Given the description of an element on the screen output the (x, y) to click on. 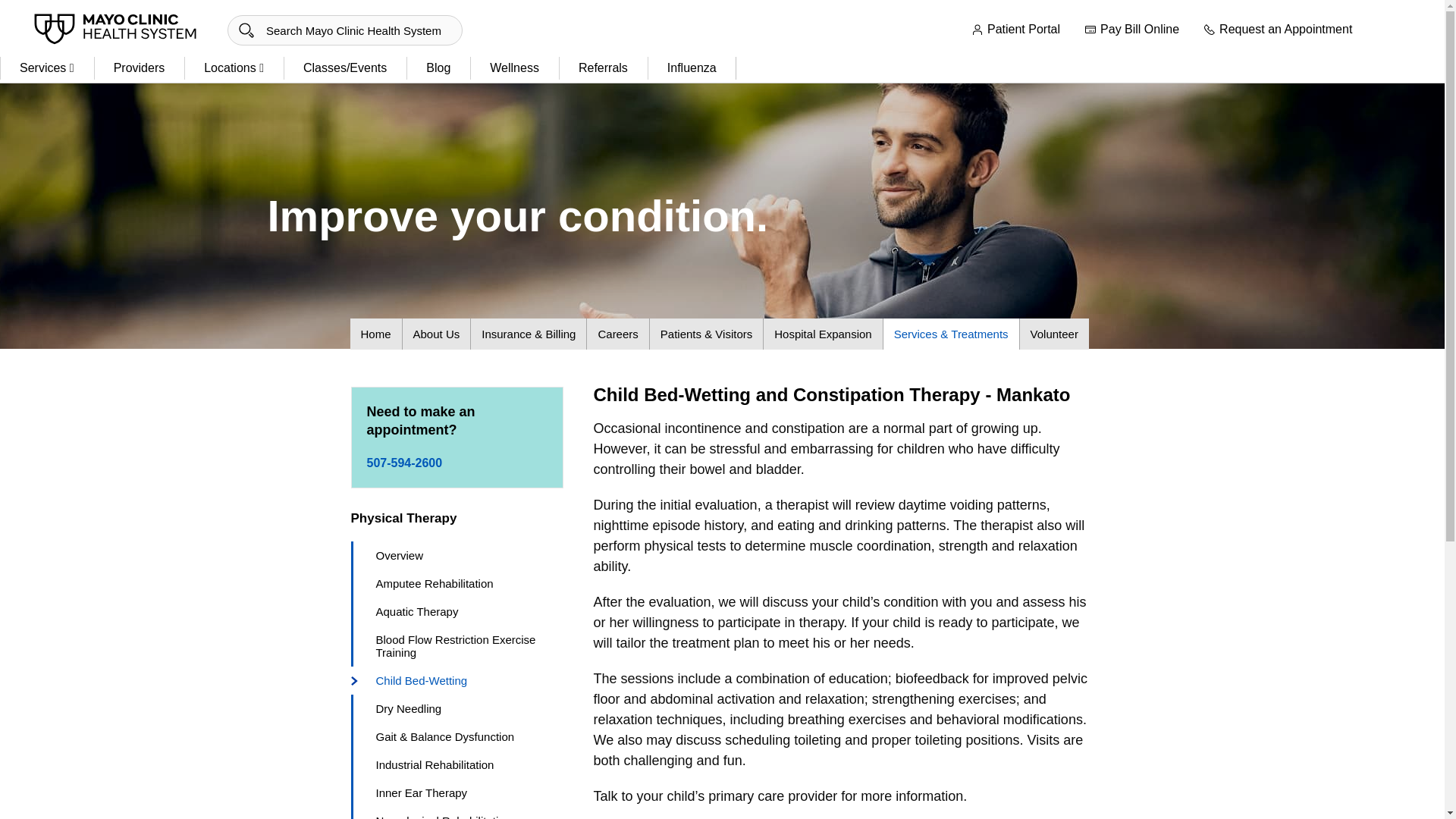
Pay Bill Online (1131, 30)
Patient Portal (1015, 30)
Providers (139, 68)
Request an Appointment (1278, 30)
